Given the description of an element on the screen output the (x, y) to click on. 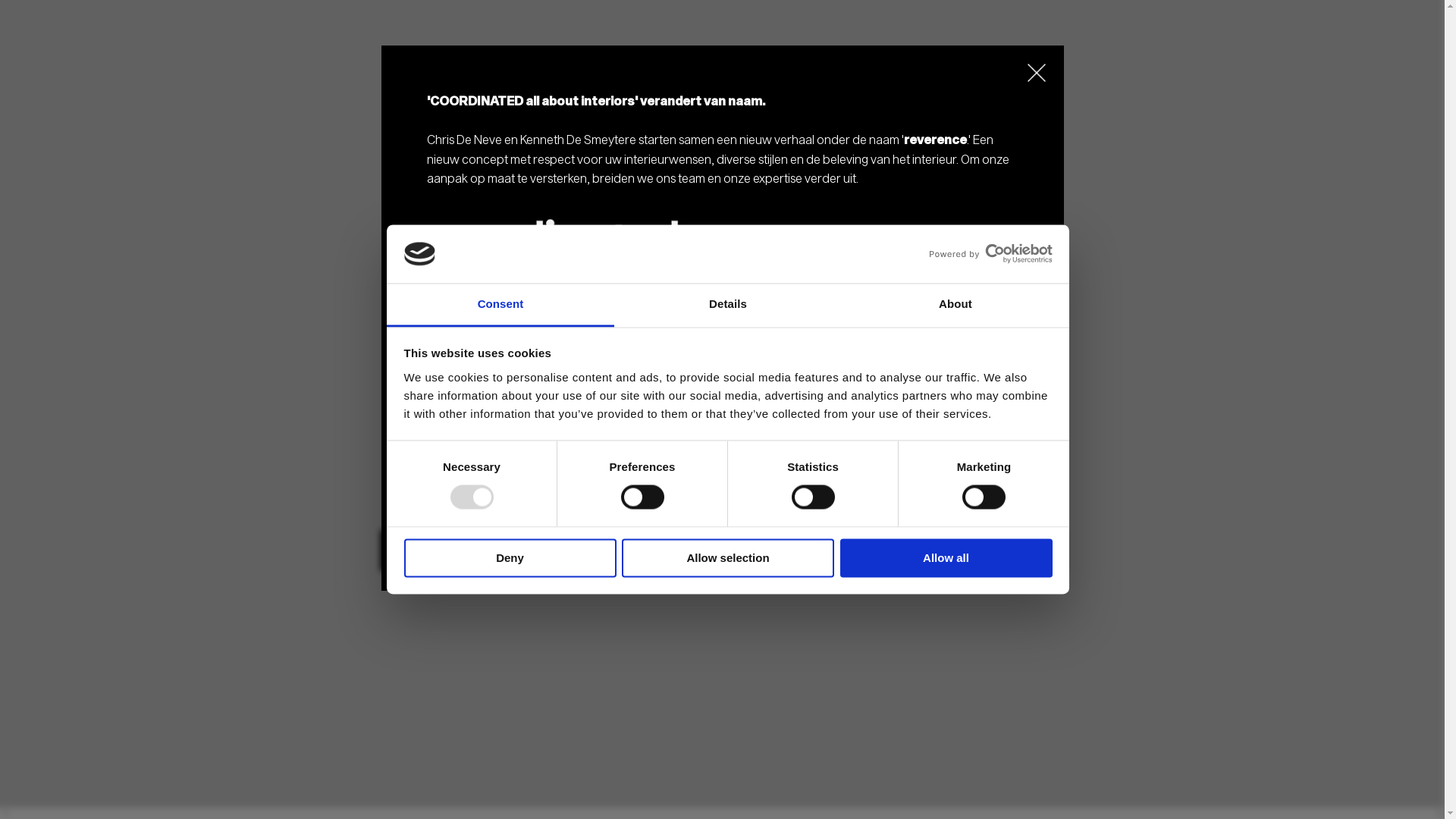
EXPERTISE Element type: text (444, 550)
Allow all Element type: text (946, 557)
PROJECTEN Element type: text (582, 550)
CONTACT Element type: text (999, 550)
ALL ABOUT US Element type: text (722, 550)
About Element type: text (955, 304)
Details Element type: text (727, 304)
Deny Element type: text (509, 557)
Allow selection Element type: text (727, 557)
ONS TEAM Element type: text (860, 550)
Consent Element type: text (500, 304)
